Given the description of an element on the screen output the (x, y) to click on. 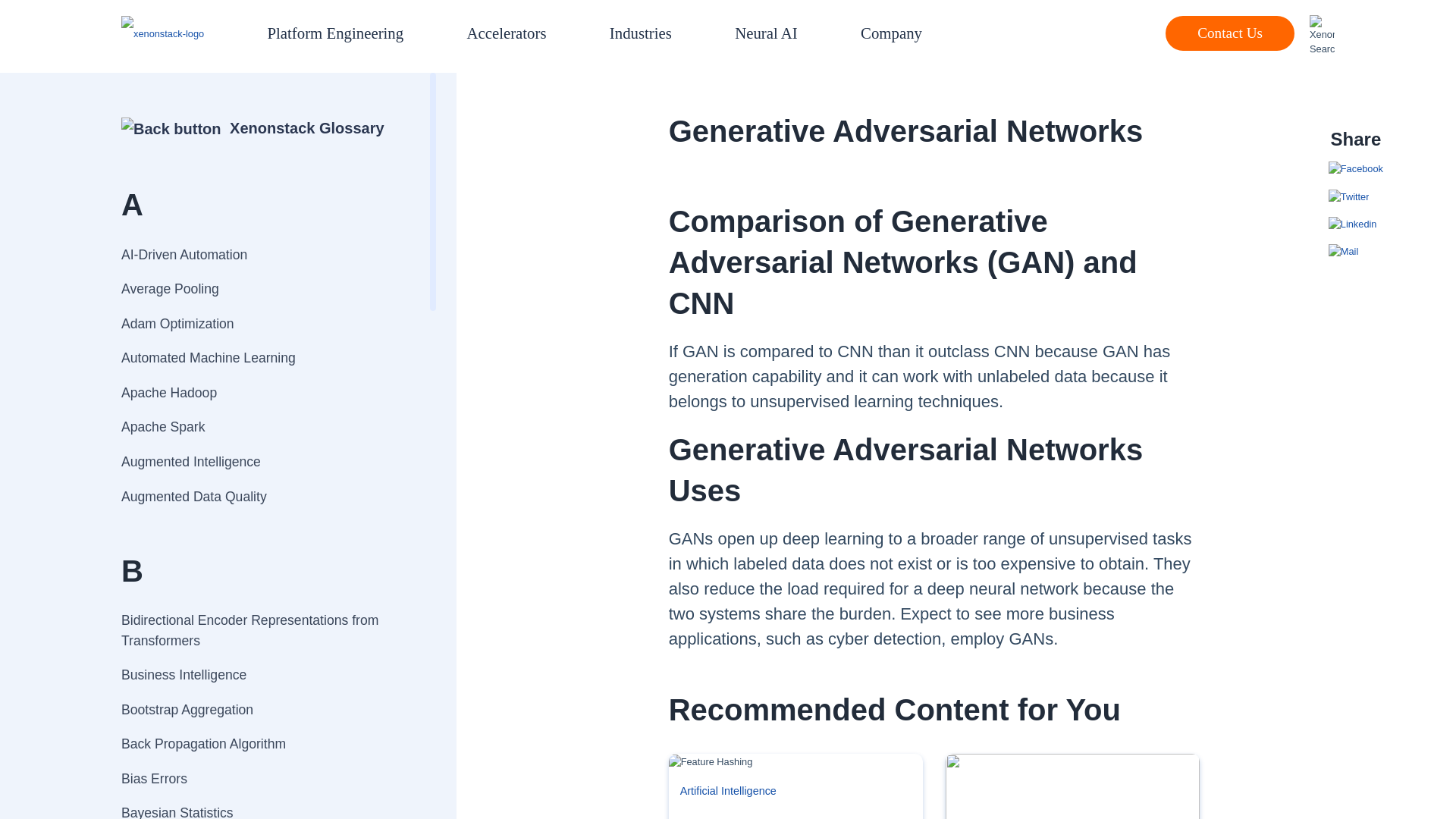
Back Propagation Algorithm (262, 744)
Bayesian Statistics (262, 807)
Apache Spark (262, 427)
Augmented Data Quality (262, 496)
Bidirectional Encoder Representations from Transformers (262, 630)
Adam Optimization (262, 323)
Business Intelligence (262, 675)
Bias Errors (262, 778)
Augmented Intelligence (262, 461)
Apache Hadoop (262, 392)
Average Pooling (262, 288)
Automated Machine Learning (262, 358)
Bootstrap Aggregation (262, 709)
